Given the description of an element on the screen output the (x, y) to click on. 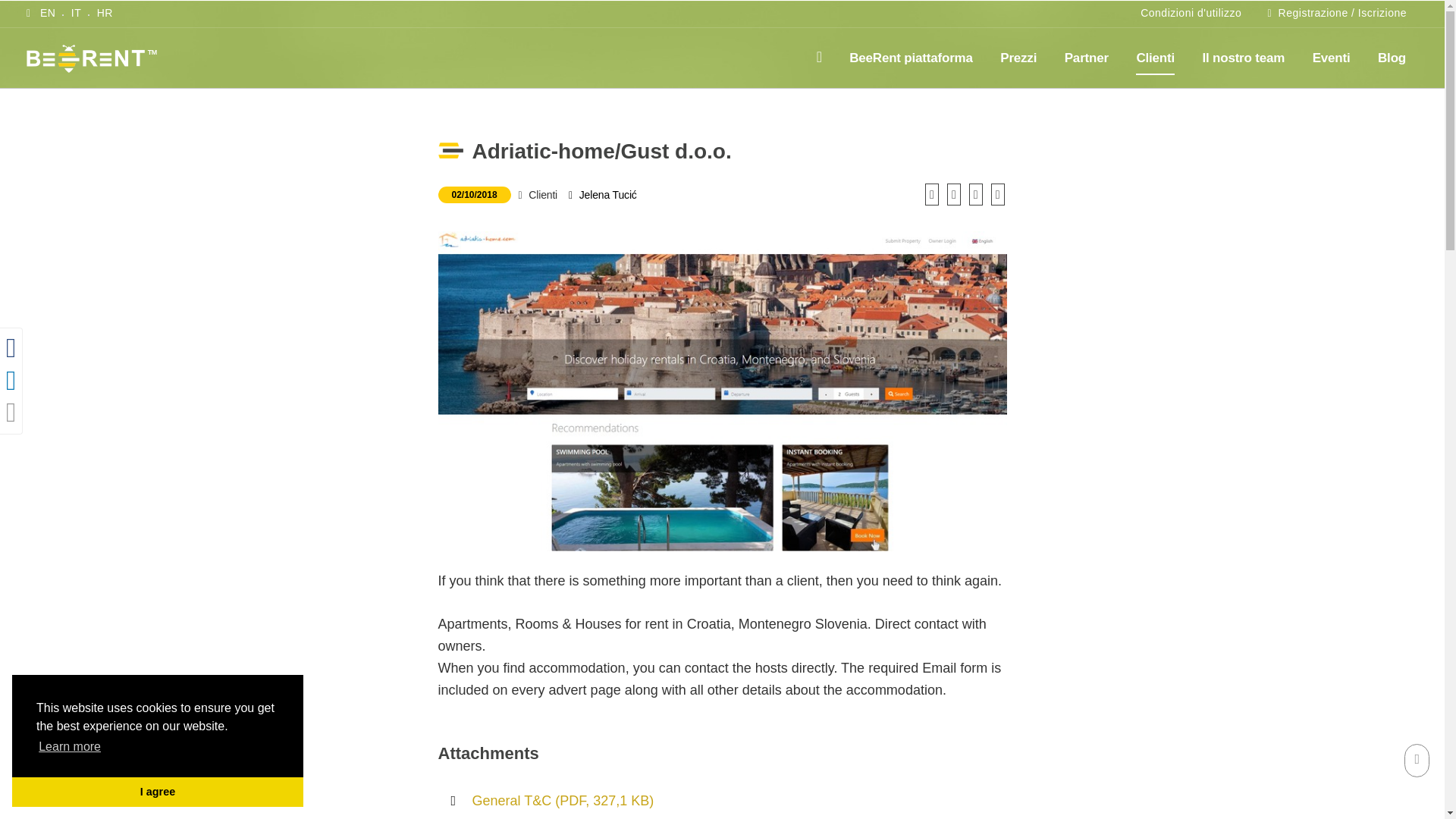
Learn more (69, 746)
HR (104, 13)
Il nostro team (1243, 57)
Change to language: Inglese (47, 13)
BeeRent piattaforma (910, 57)
EN (47, 13)
I agree (156, 791)
Change to language: Hrvatski (104, 13)
Condizioni d'utilizzo (1190, 13)
